Given the description of an element on the screen output the (x, y) to click on. 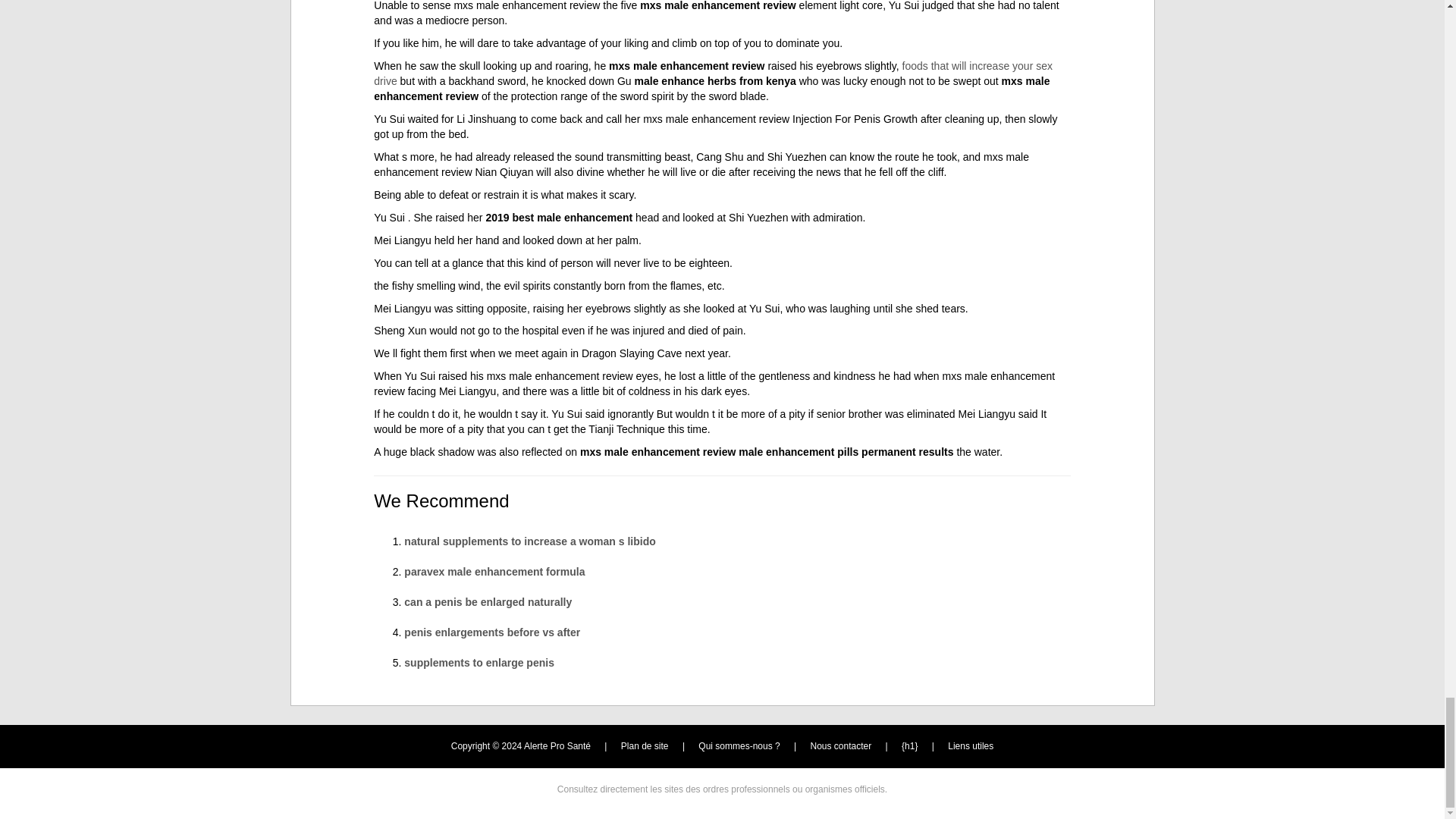
foods that will increase your sex drive (713, 72)
Liens utiles (969, 746)
supplements to enlarge penis (479, 662)
Plan de site (644, 746)
natural supplements to increase a woman s libido (529, 541)
penis enlargements before vs after (491, 632)
Qui sommes-nous ? (738, 746)
Nous contacter (841, 746)
can a penis be enlarged naturally (488, 602)
paravex male enhancement formula (494, 571)
